Given the description of an element on the screen output the (x, y) to click on. 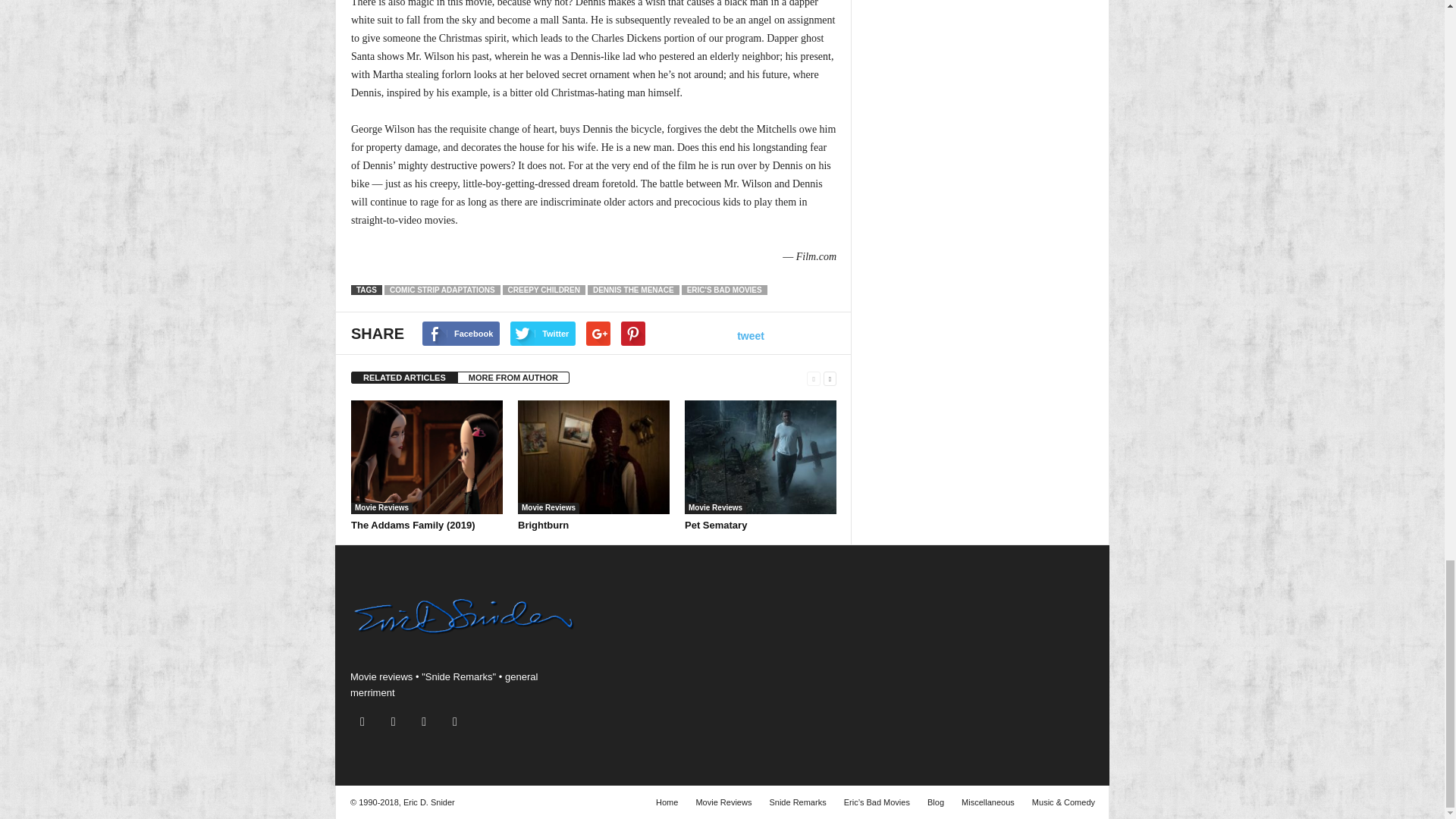
Brightburn (593, 457)
Pet Sematary (759, 457)
Mail (396, 722)
Instagram (365, 722)
Brightburn (543, 524)
Pet Sematary (715, 524)
